Given the description of an element on the screen output the (x, y) to click on. 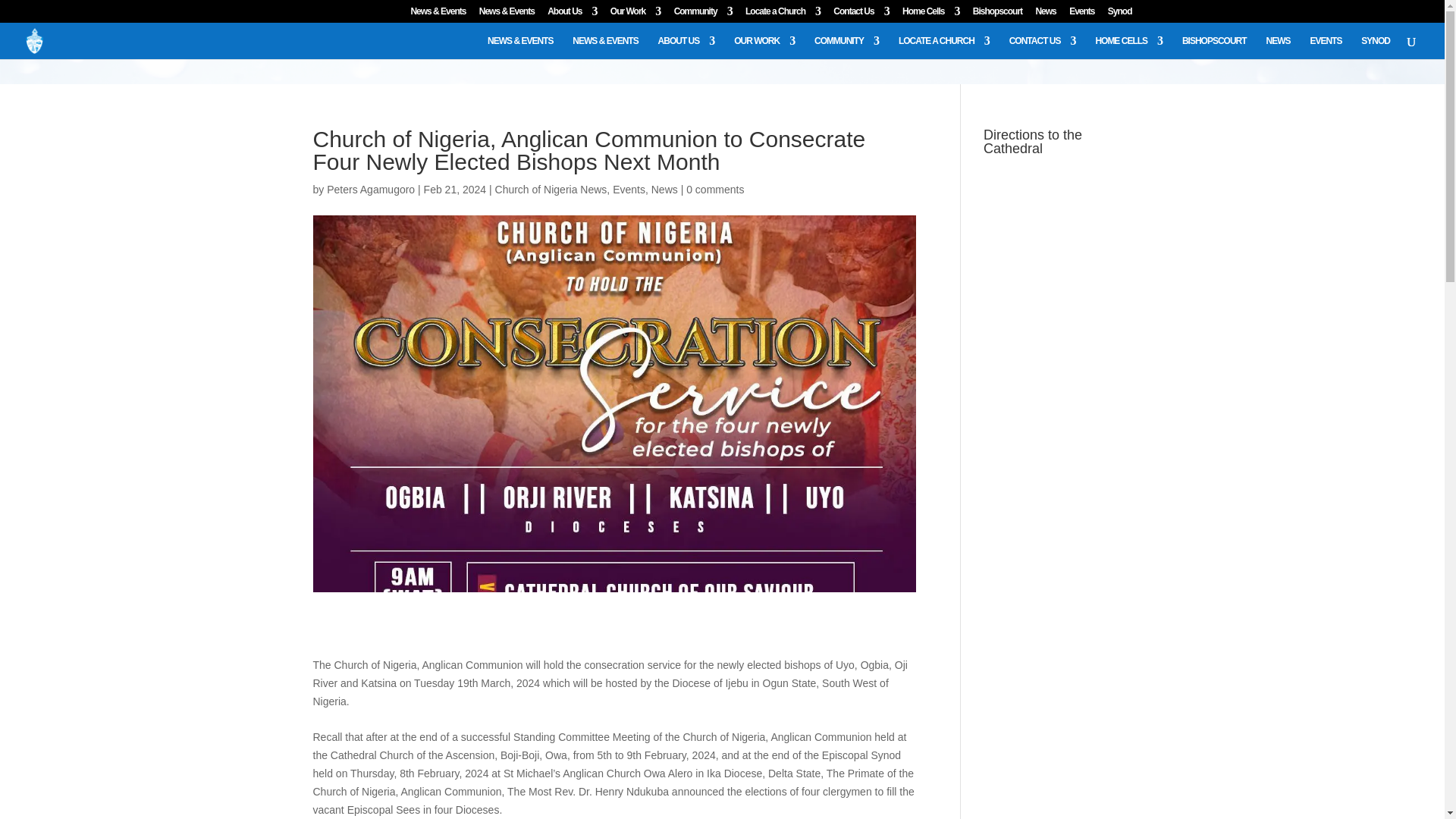
Community (703, 14)
Locate a Church (783, 14)
Posts by Peters Agamugoro (370, 189)
Our Work (635, 14)
About Us (571, 14)
